Given the description of an element on the screen output the (x, y) to click on. 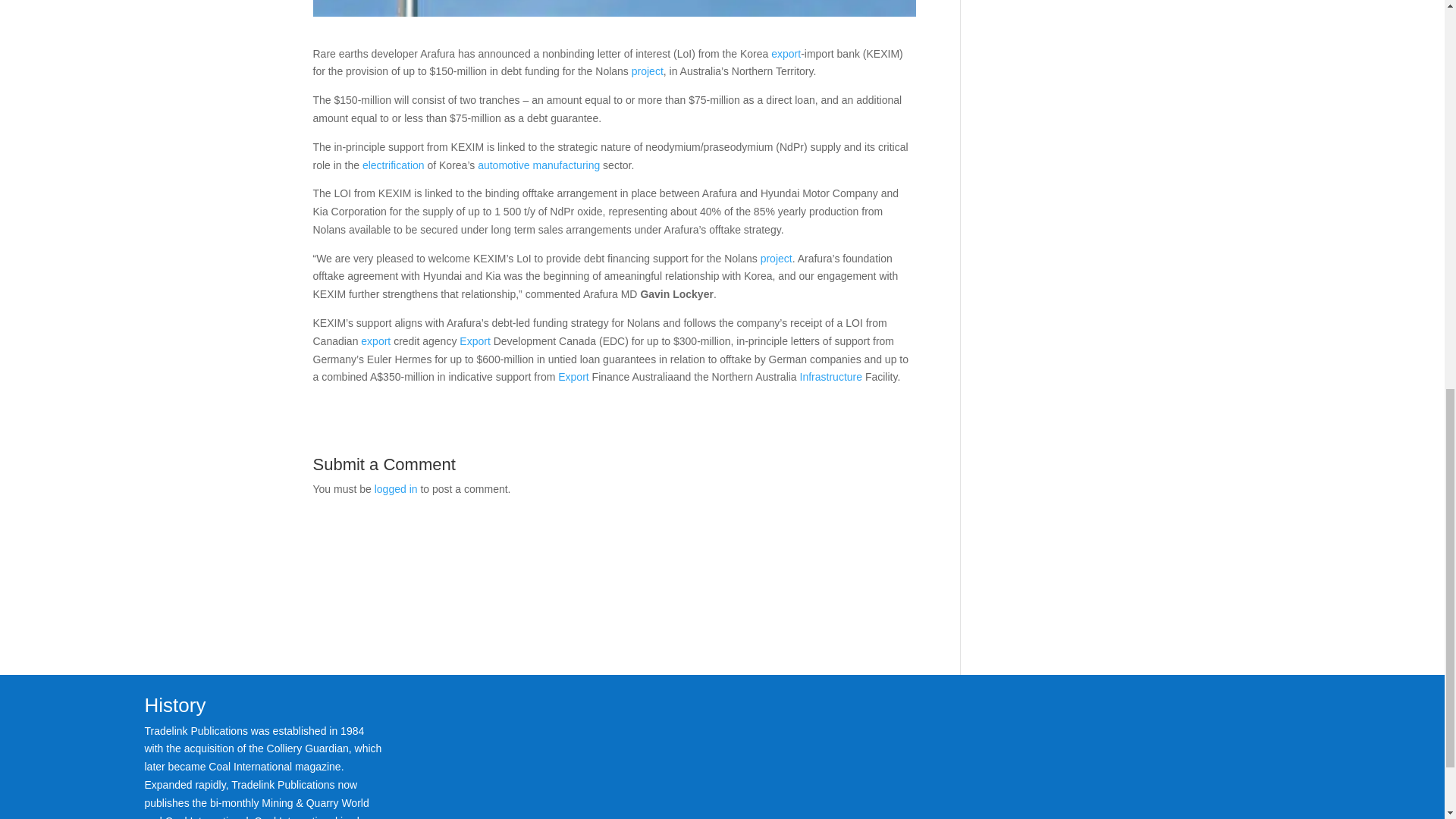
electrification (393, 164)
logged in (395, 489)
Export (572, 377)
project (647, 70)
export (375, 340)
project (776, 258)
export (785, 53)
Export (474, 340)
automotive (503, 164)
Infrastructure (830, 377)
